Given the description of an element on the screen output the (x, y) to click on. 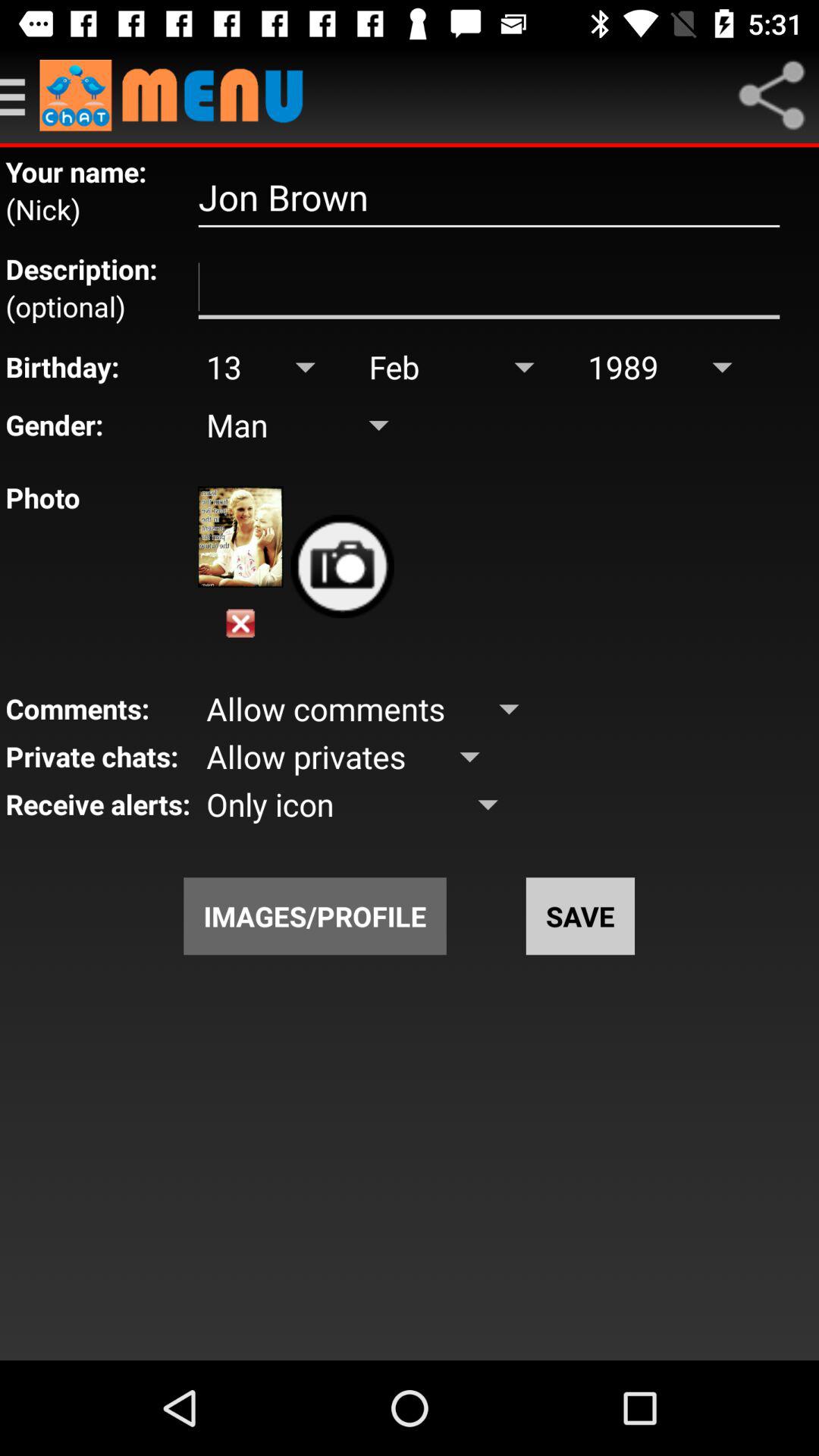
menu icon (771, 95)
